Given the description of an element on the screen output the (x, y) to click on. 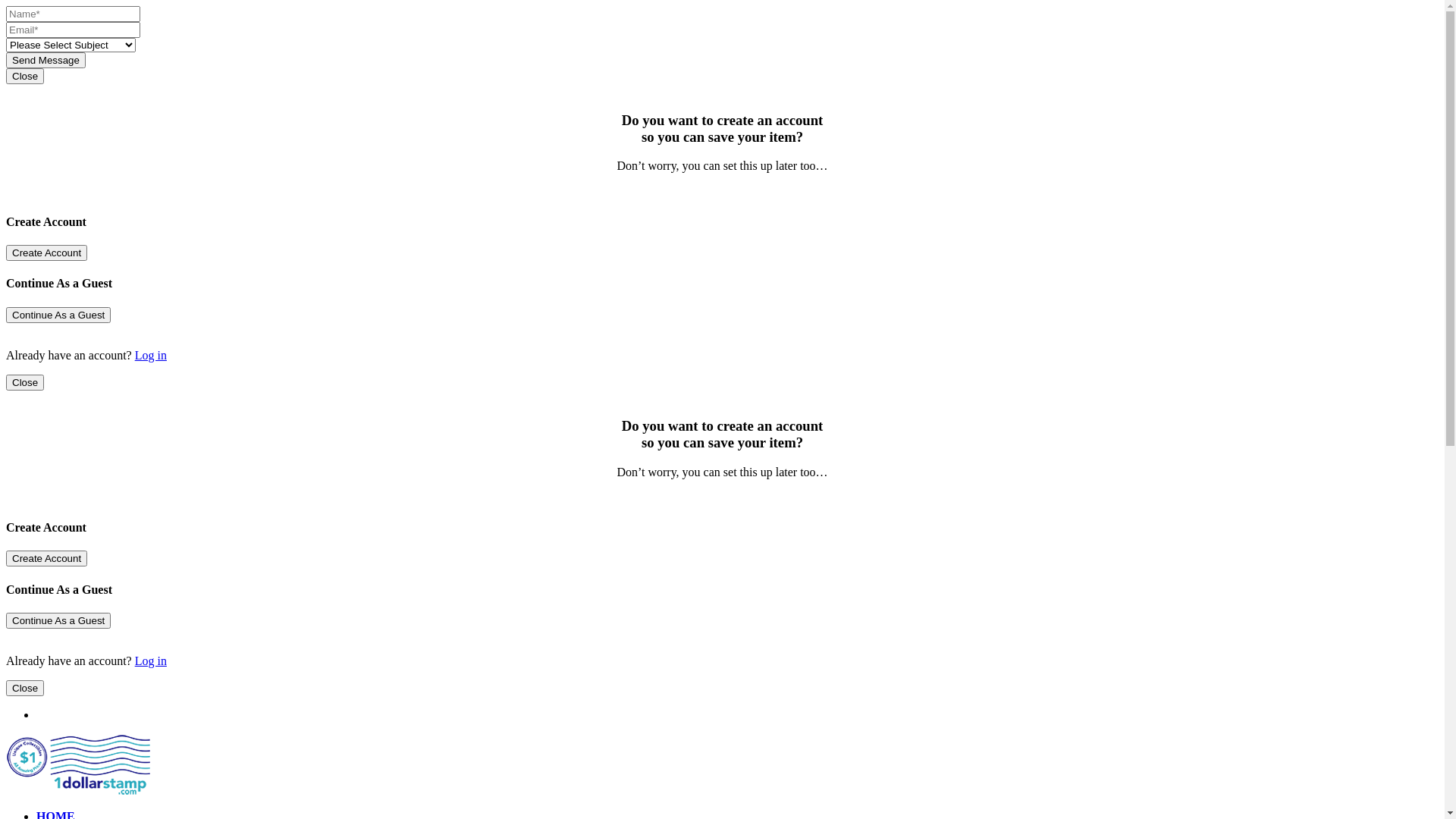
Continue As a Guest Element type: text (58, 314)
Send Message Element type: text (45, 60)
Create Account Element type: text (46, 558)
Continue As a Guest Element type: text (58, 620)
Close Element type: text (24, 76)
Close Element type: text (24, 688)
Log in Element type: text (150, 354)
Log in Element type: text (150, 660)
Create Account Element type: text (46, 252)
Close Element type: text (24, 382)
